Given the description of an element on the screen output the (x, y) to click on. 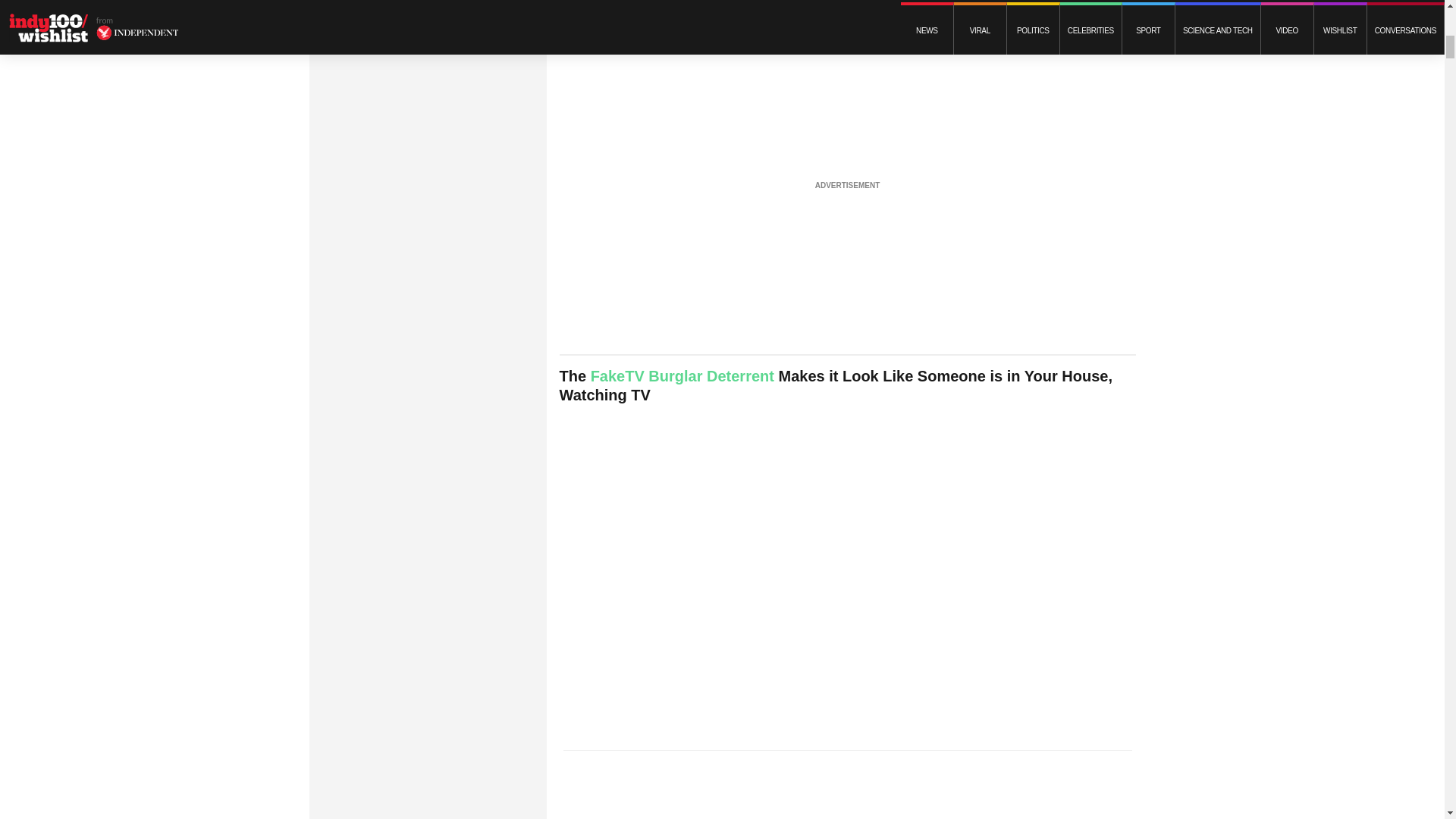
FakeTV Burglar Deterrent (682, 375)
